Given the description of an element on the screen output the (x, y) to click on. 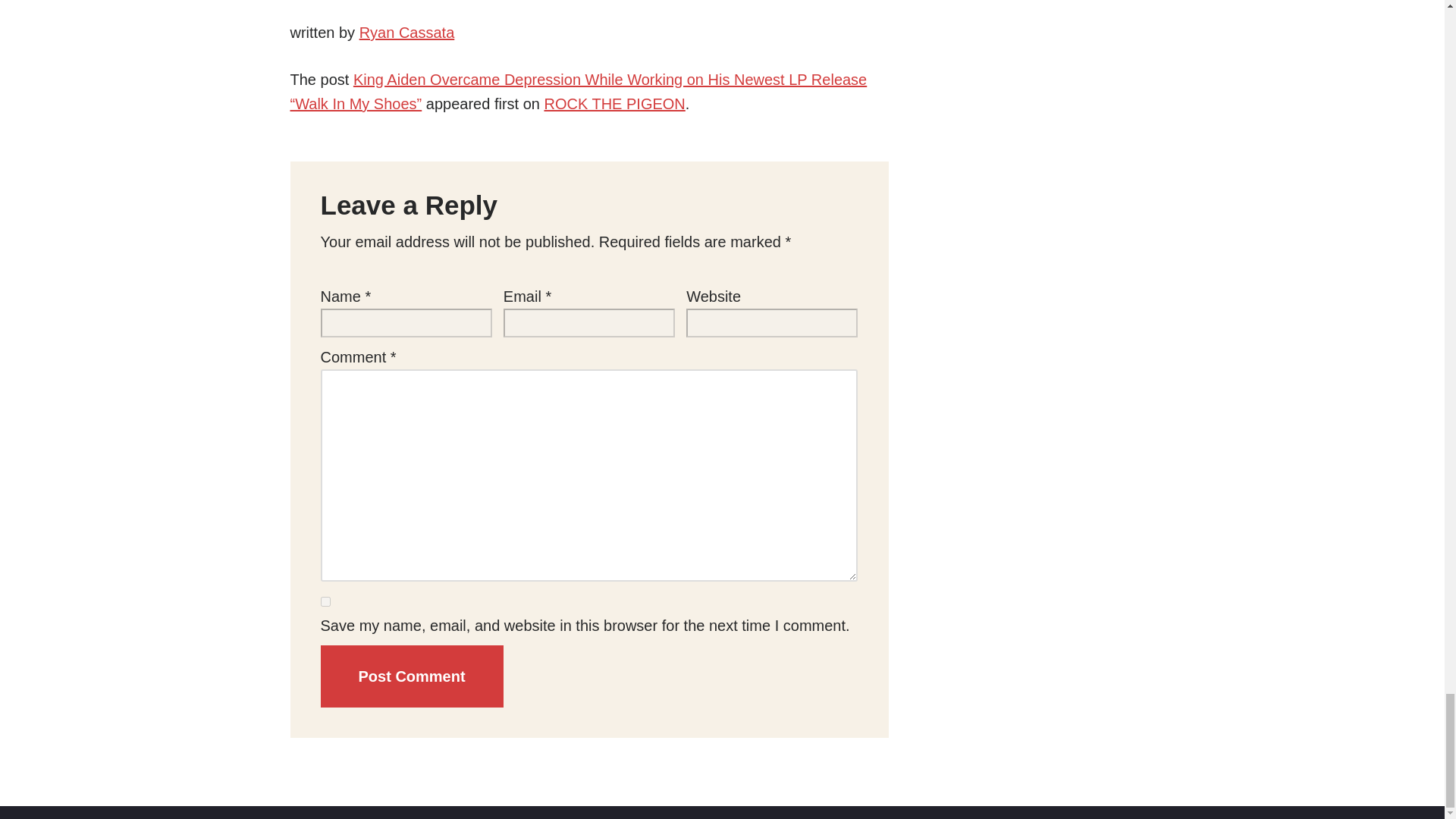
ROCK THE PIGEON (613, 103)
Post Comment (411, 676)
yes (325, 601)
Ryan Cassata (406, 32)
Post Comment (411, 676)
